Given the description of an element on the screen output the (x, y) to click on. 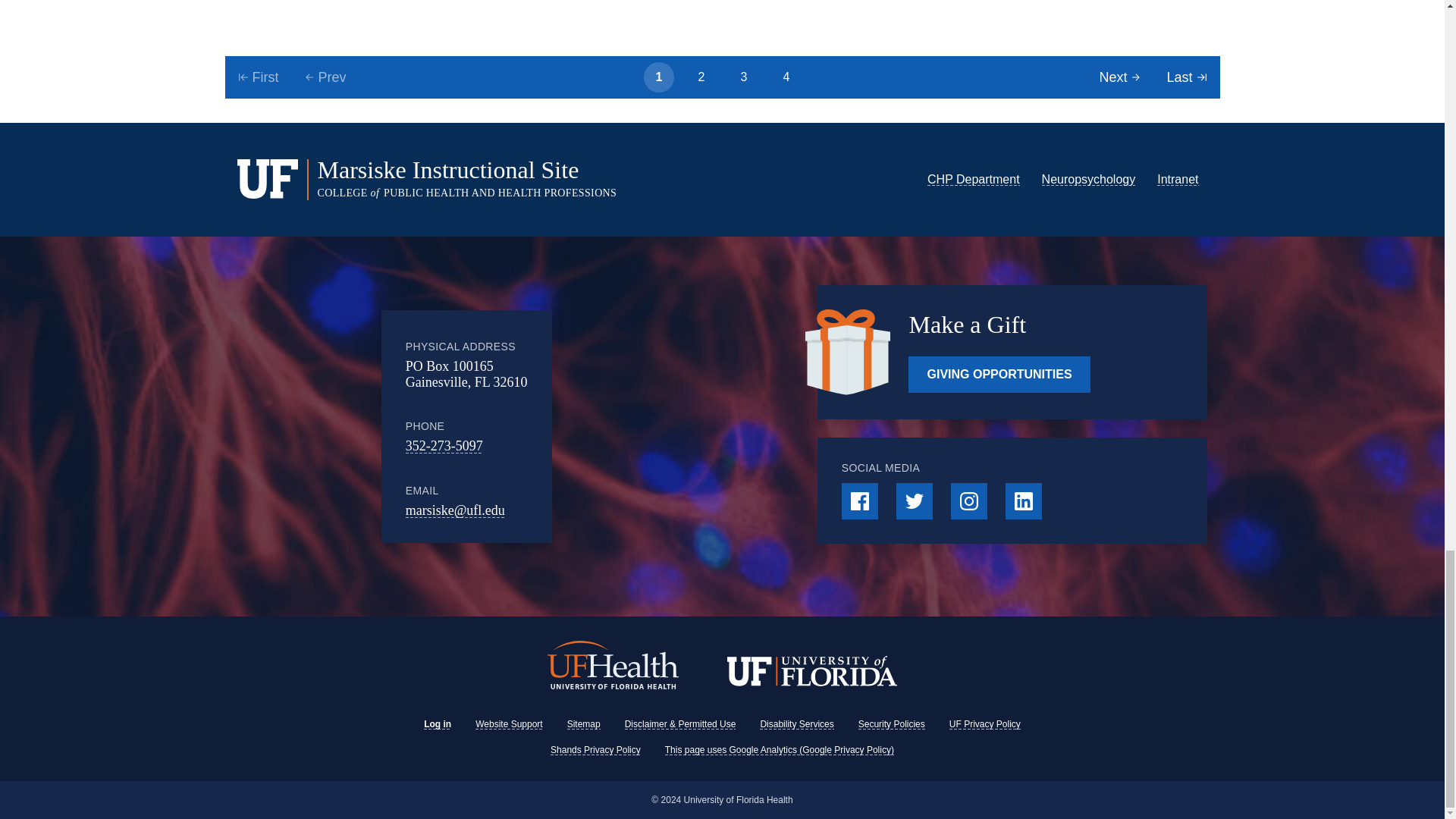
UF Privacy Policy (984, 724)
352-273-5097 (444, 445)
Website Support (509, 724)
Sitemap (583, 724)
CHP Department (973, 178)
Log in (437, 724)
Security Policies (891, 724)
Shands Privacy Policy (595, 749)
Intranet (1177, 178)
Disability Services (796, 724)
